Given the description of an element on the screen output the (x, y) to click on. 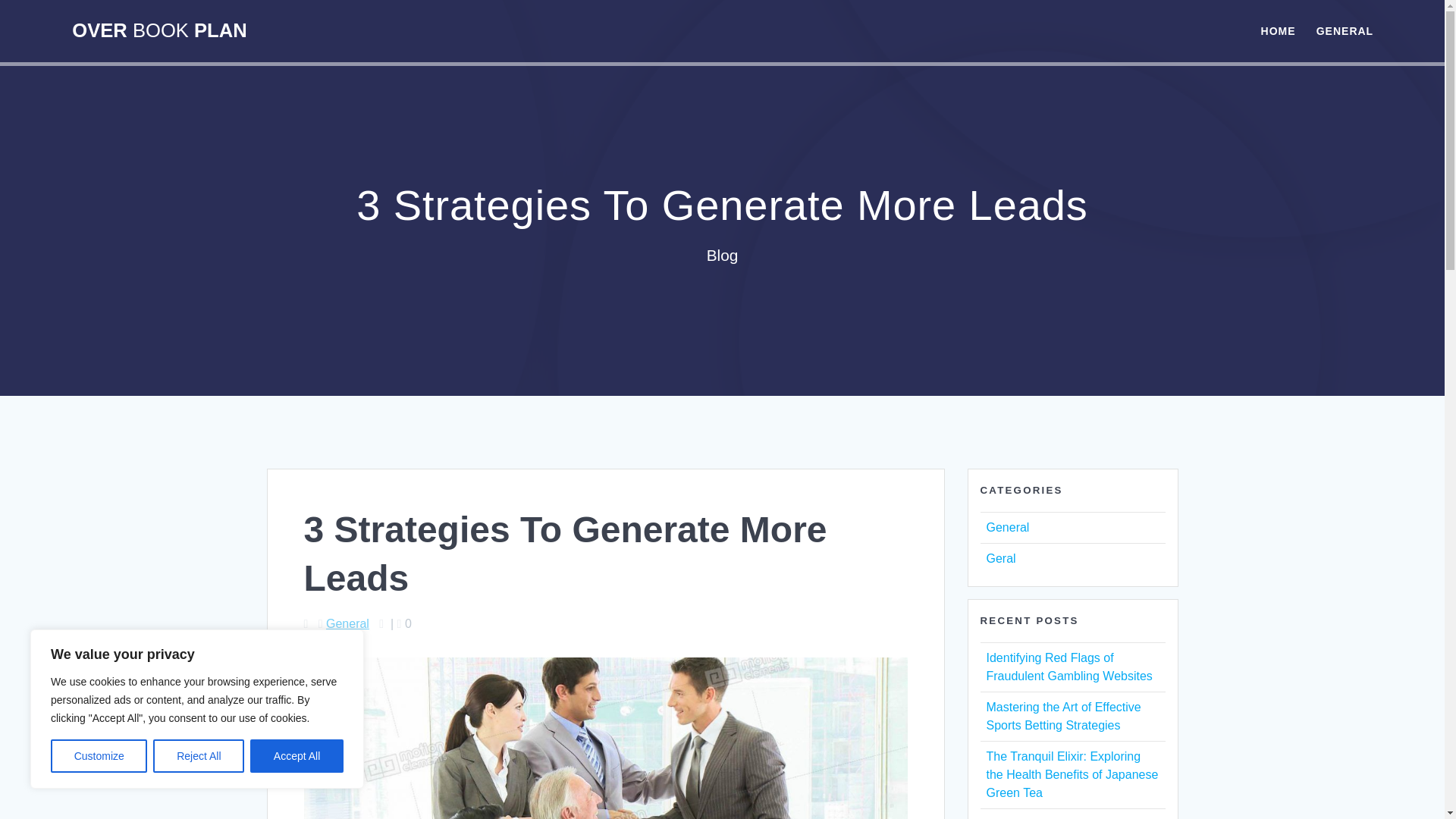
Geral (999, 558)
Customize (98, 756)
General (347, 623)
HOME (1277, 30)
OVER BOOK PLAN (158, 30)
Reject All (198, 756)
Identifying Red Flags of Fraudulent Gambling Websites (1068, 666)
Accept All (296, 756)
Mastering the Art of Effective Sports Betting Strategies (1062, 716)
GENERAL (1344, 30)
General (1007, 526)
